Given the description of an element on the screen output the (x, y) to click on. 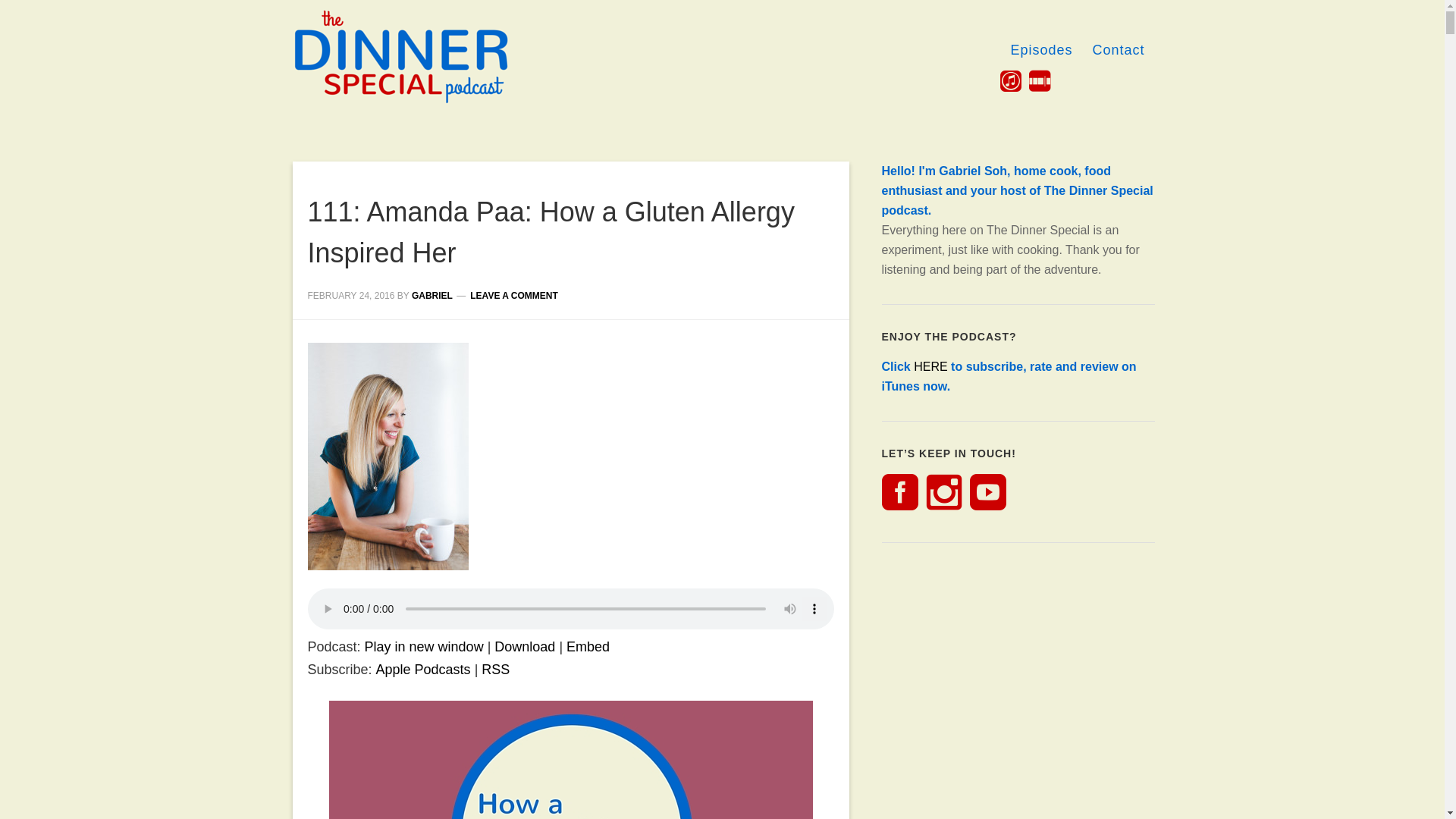
Subscribe on Apple Podcasts (422, 669)
Play in new window (424, 646)
RSS (495, 669)
Subscribe via RSS (495, 669)
Apple Podcasts (422, 669)
111: Amanda Paa: How a Gluten Allergy Inspired Her (550, 232)
Embed (588, 646)
Download (524, 646)
Play in new window (424, 646)
Episodes (1040, 50)
LEAVE A COMMENT (513, 295)
The Dinner Special podcast (425, 62)
Contact (1117, 50)
Download (524, 646)
GABRIEL (432, 295)
